Given the description of an element on the screen output the (x, y) to click on. 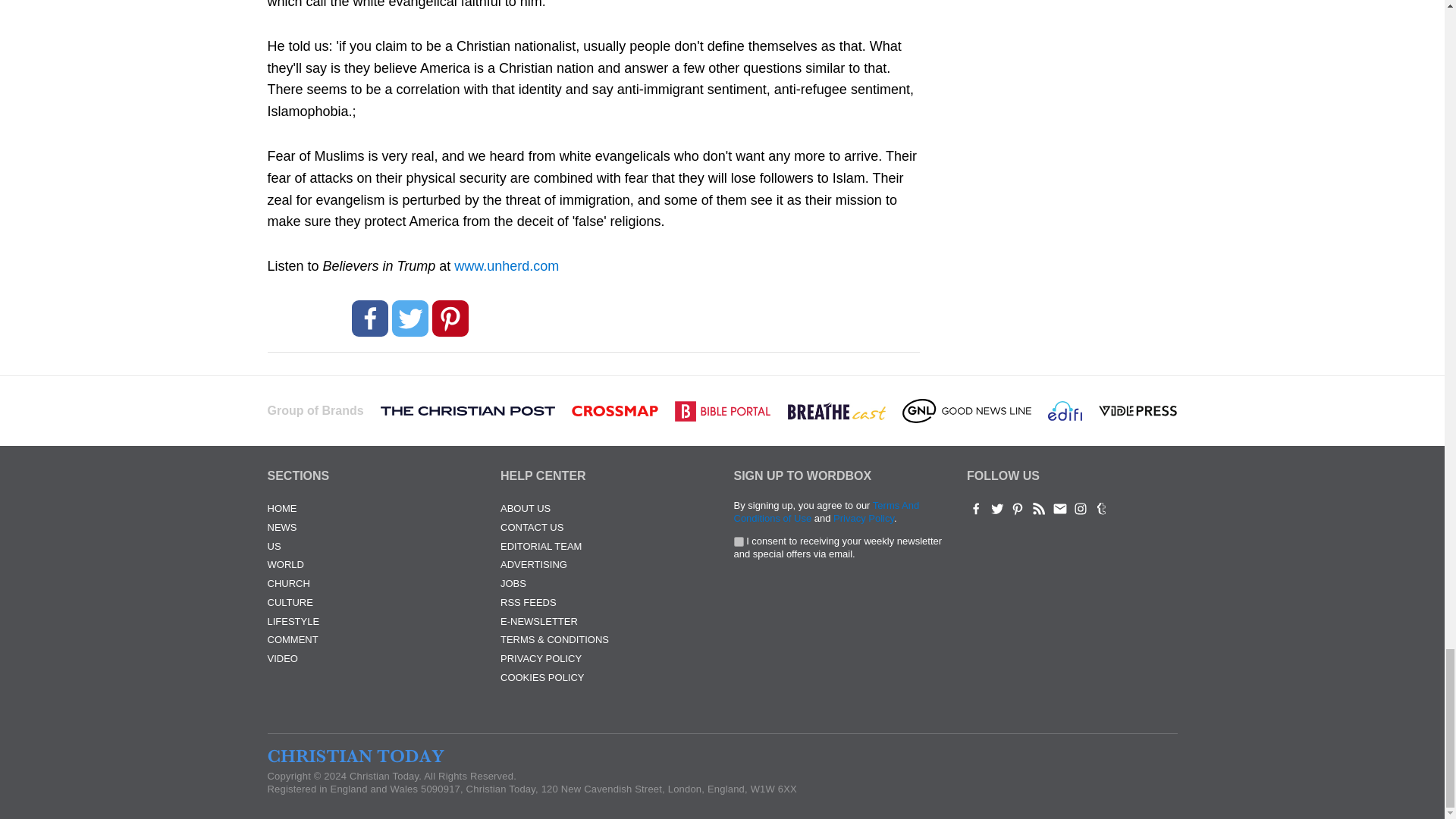
on (738, 542)
